Given the description of an element on the screen output the (x, y) to click on. 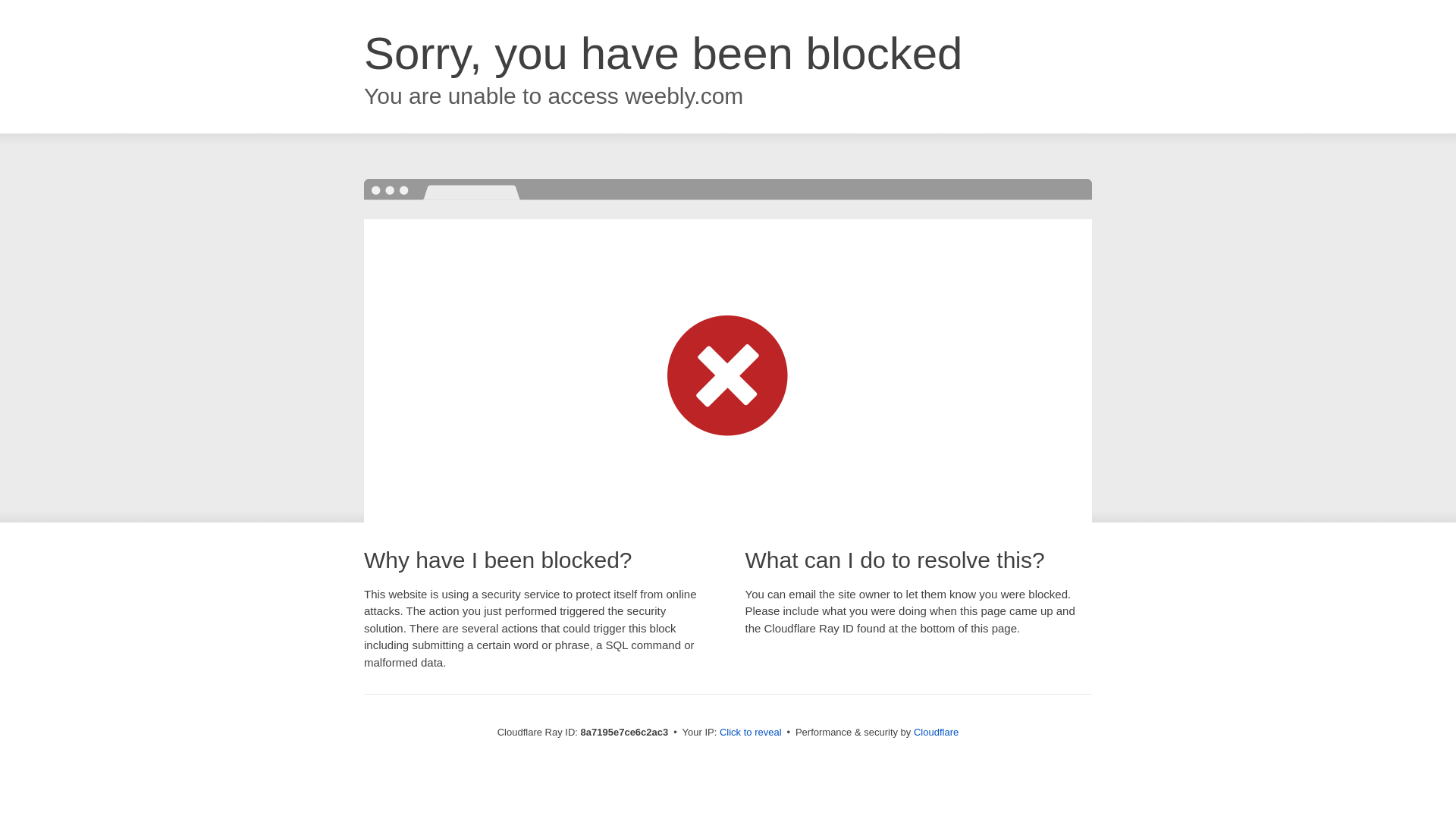
Cloudflare (936, 731)
Click to reveal (750, 732)
